Given the description of an element on the screen output the (x, y) to click on. 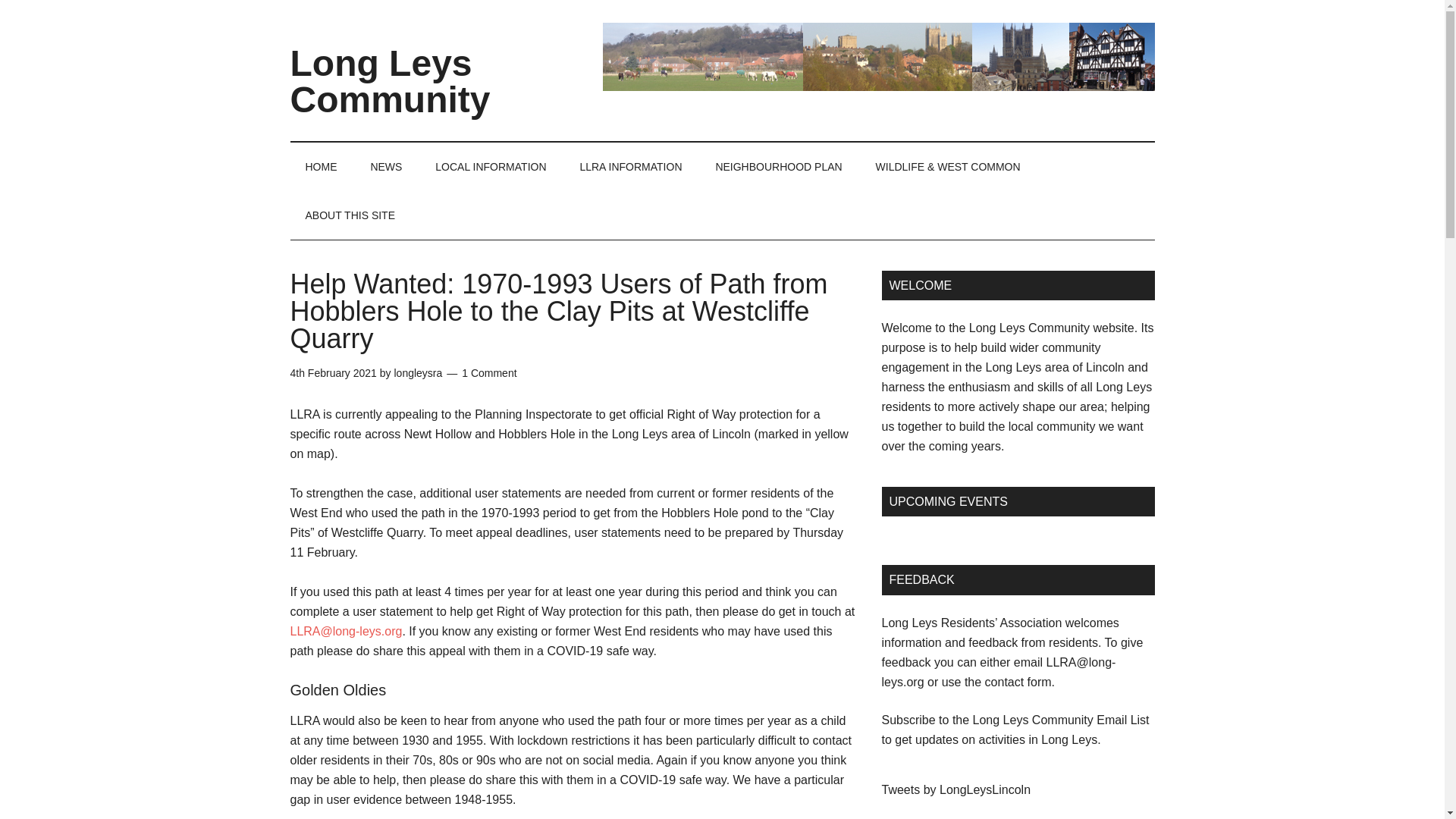
NEWS (385, 166)
HOME (320, 166)
NEIGHBOURHOOD PLAN (778, 166)
LLRA INFORMATION (630, 166)
Long Leys Community (389, 81)
LOCAL INFORMATION (490, 166)
